Given the description of an element on the screen output the (x, y) to click on. 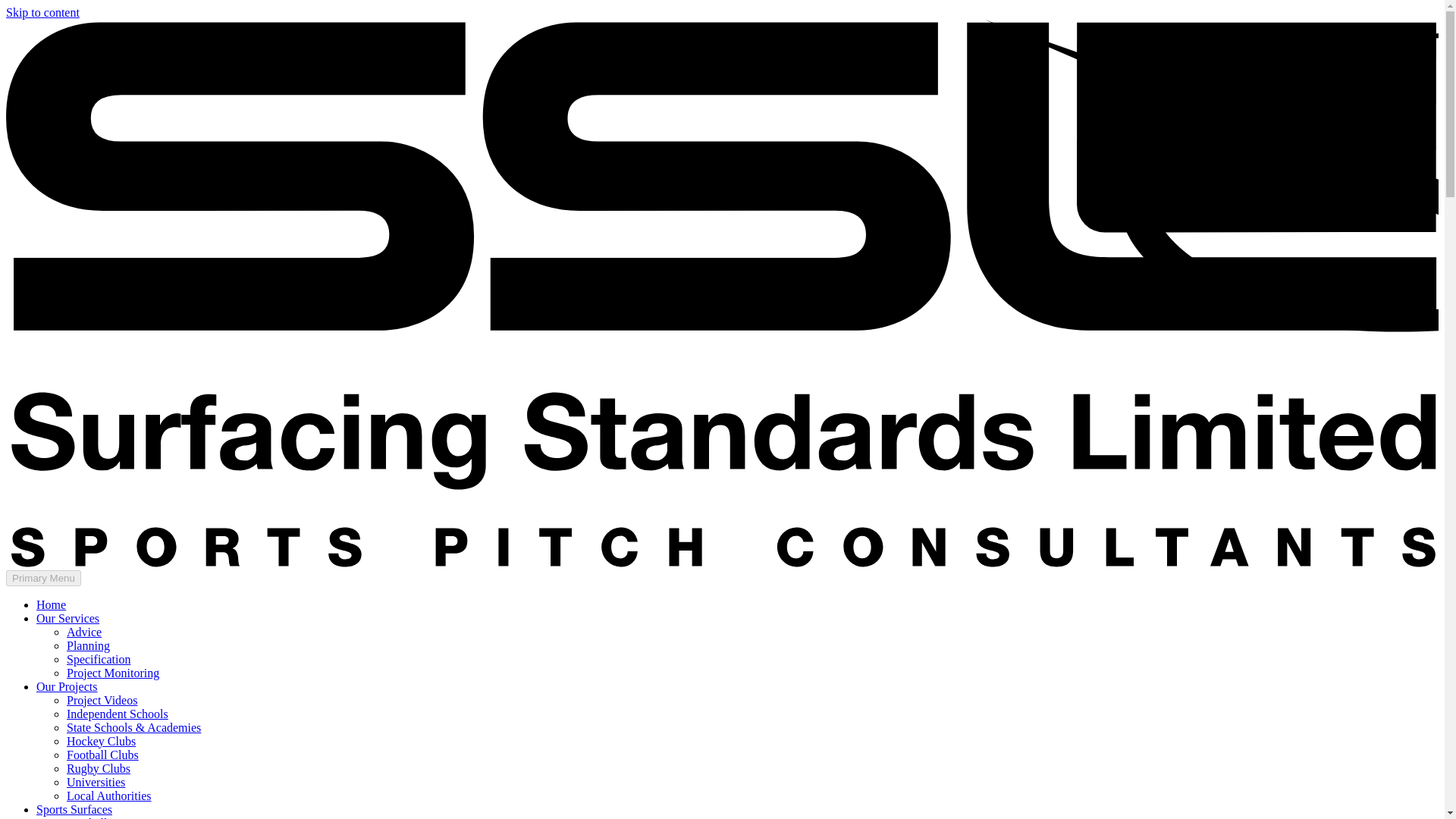
Football (86, 817)
Sports Surfaces (74, 809)
Specification (98, 658)
Hockey Clubs (100, 740)
Primary Menu (43, 578)
Our Services (67, 617)
Rugby Clubs (98, 768)
Project Videos (101, 699)
Our Projects (66, 686)
Universities (95, 781)
Advice (83, 631)
Skip to content (42, 11)
Football Clubs (102, 754)
Project Monitoring (112, 672)
Local Authorities (108, 795)
